Given the description of an element on the screen output the (x, y) to click on. 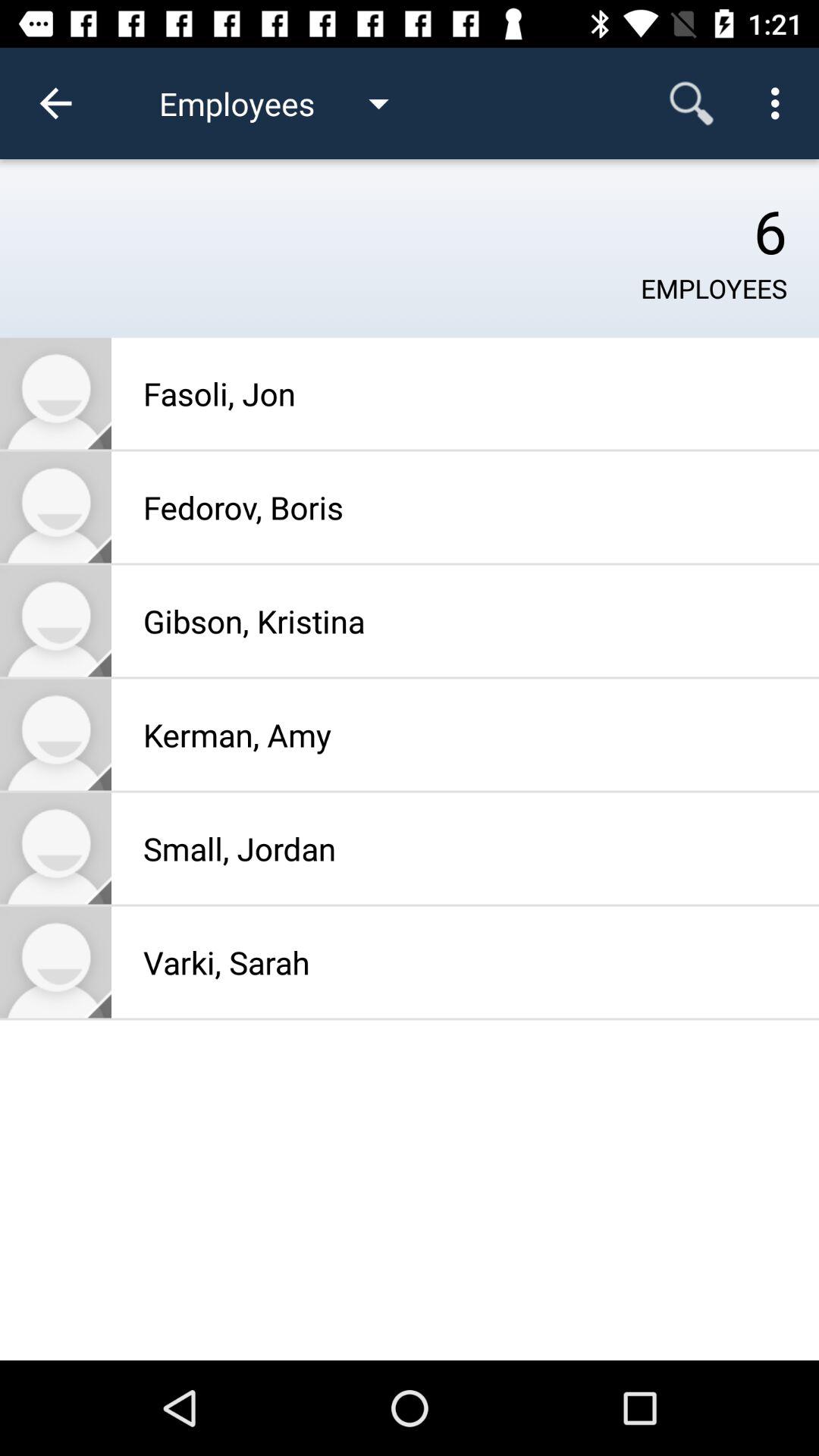
whats up page (55, 962)
